Given the description of an element on the screen output the (x, y) to click on. 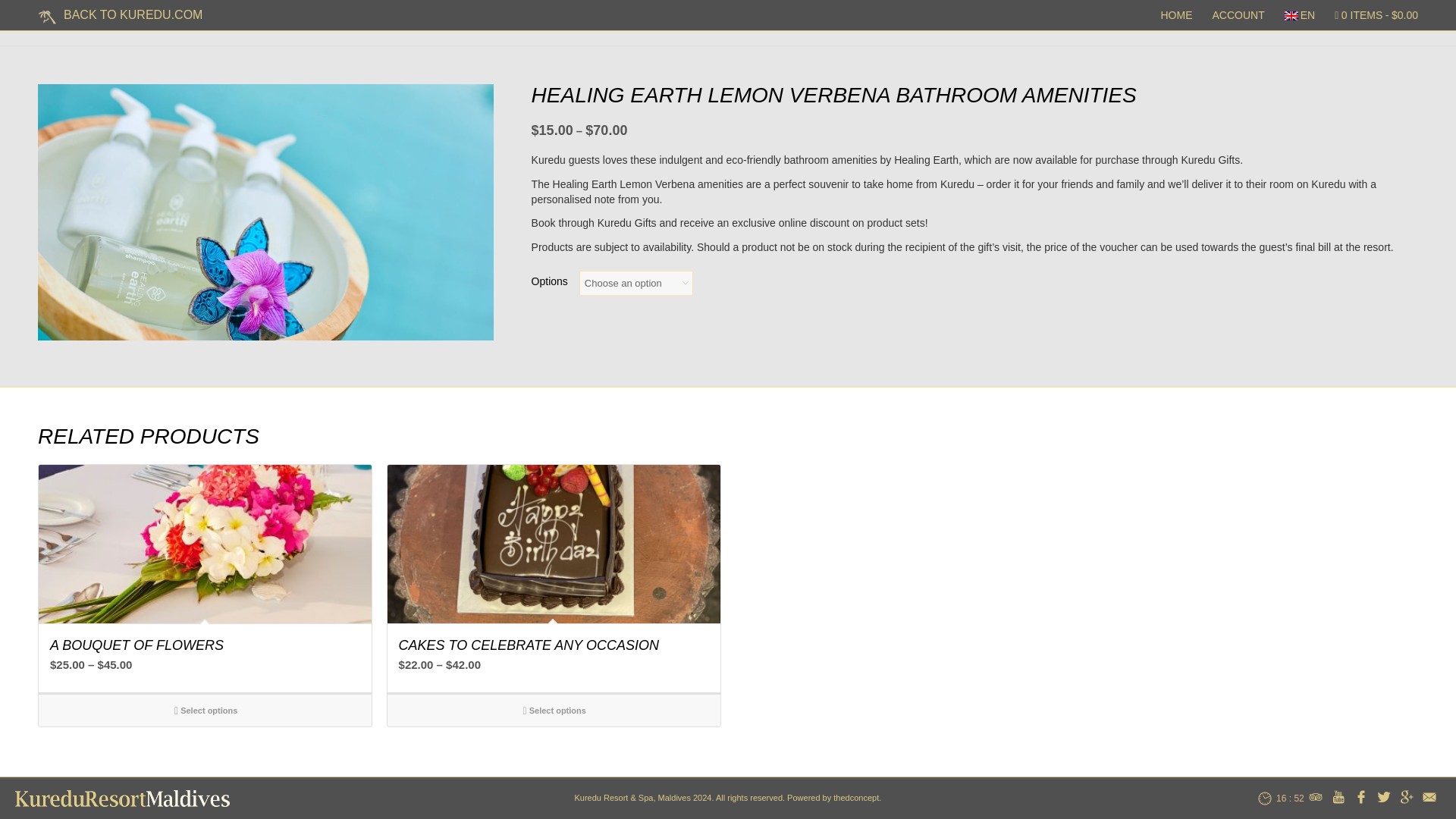
Select options (205, 710)
HOME (1176, 15)
English (1291, 15)
Select options (553, 710)
BACK TO KUREDU.COM (119, 15)
EN (1299, 15)
Healing Earth Kuredu Maldives (265, 212)
ACCOUNT (1238, 15)
Start shopping (1371, 15)
